Given the description of an element on the screen output the (x, y) to click on. 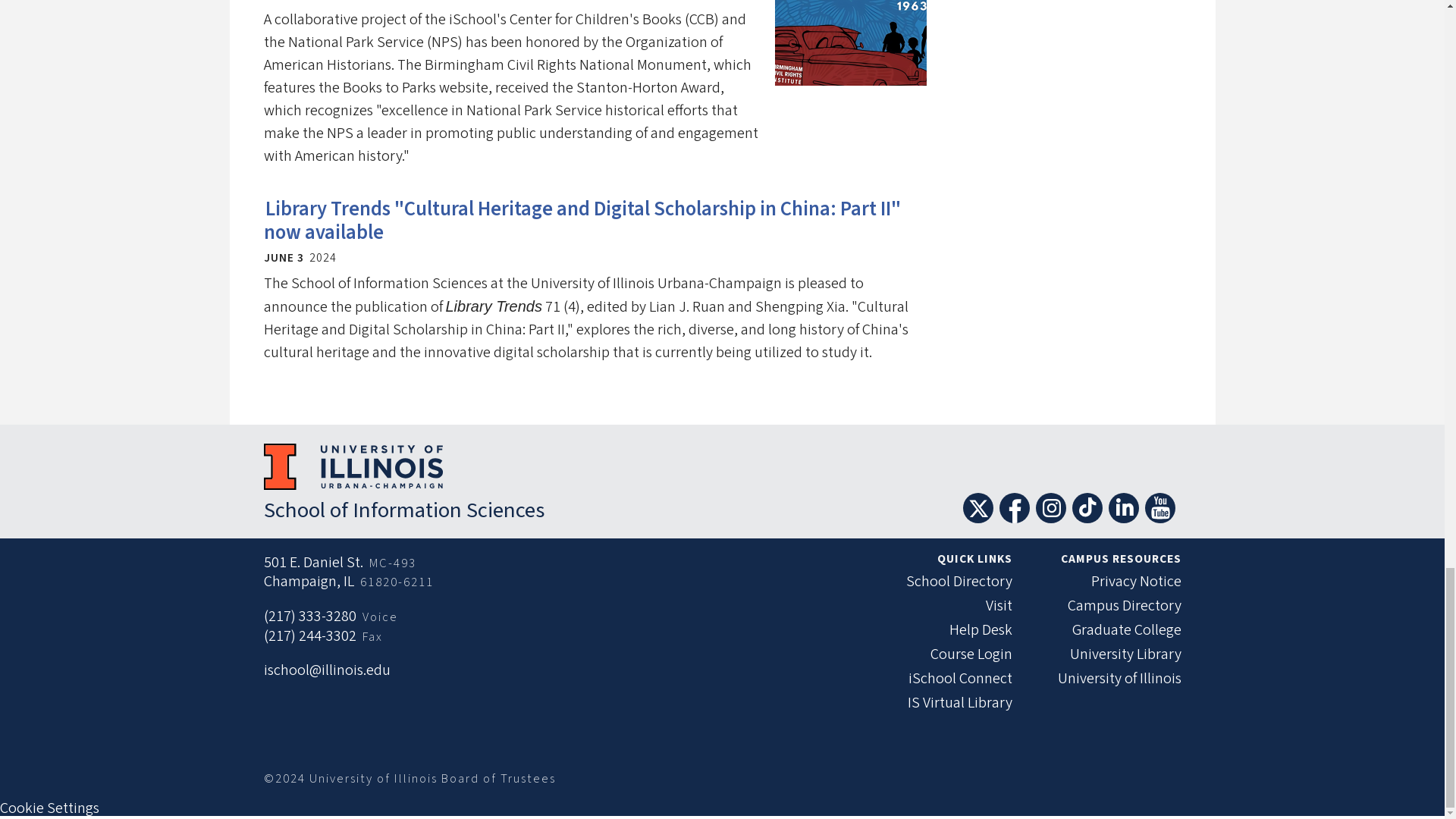
University of Illinois Urbana-Champaign (352, 466)
